Given the description of an element on the screen output the (x, y) to click on. 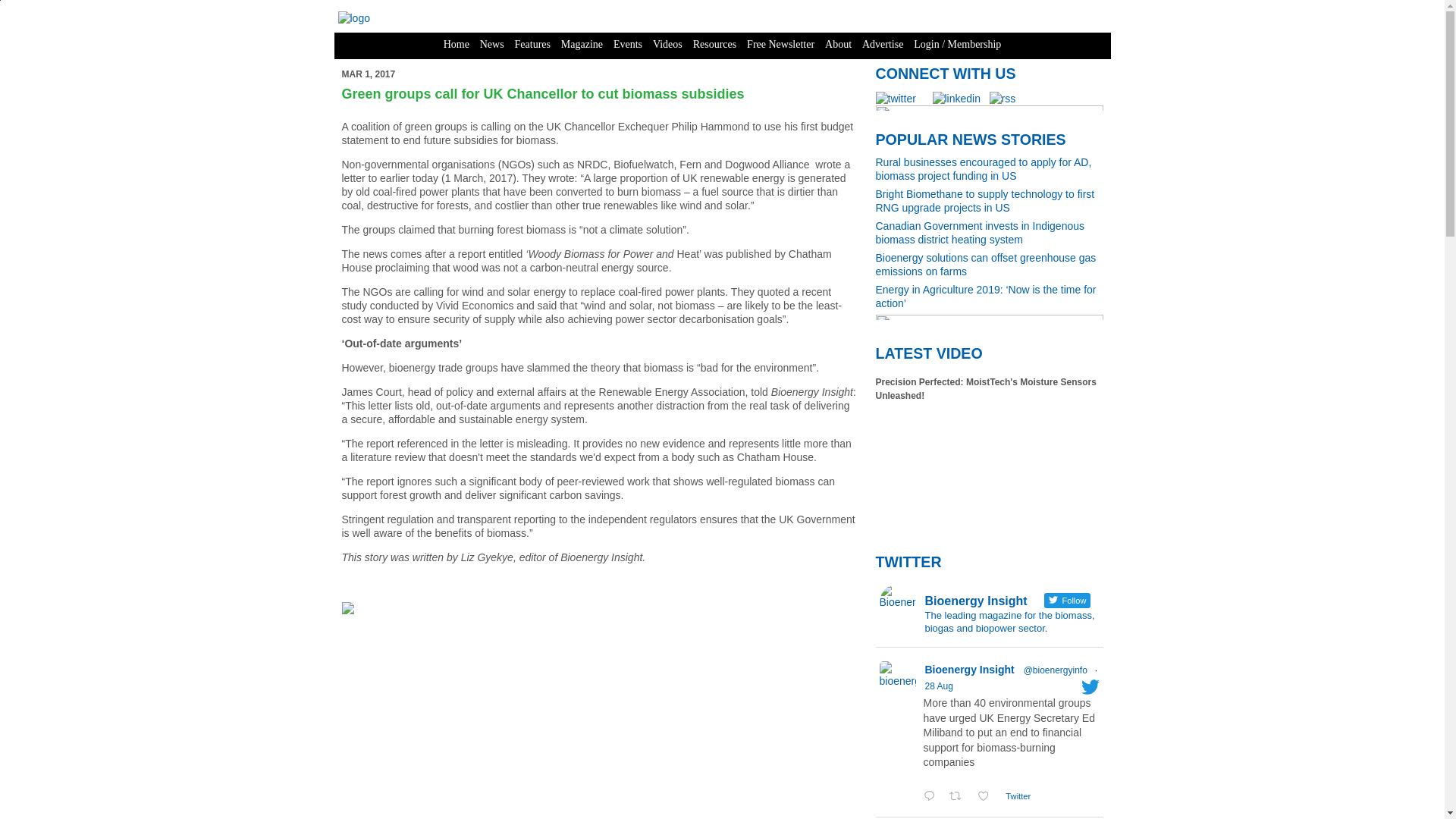
Advertise (883, 44)
Free Newsletter (780, 44)
Videos (667, 44)
Magazine (582, 44)
Features (532, 44)
Resources (714, 44)
